Given the description of an element on the screen output the (x, y) to click on. 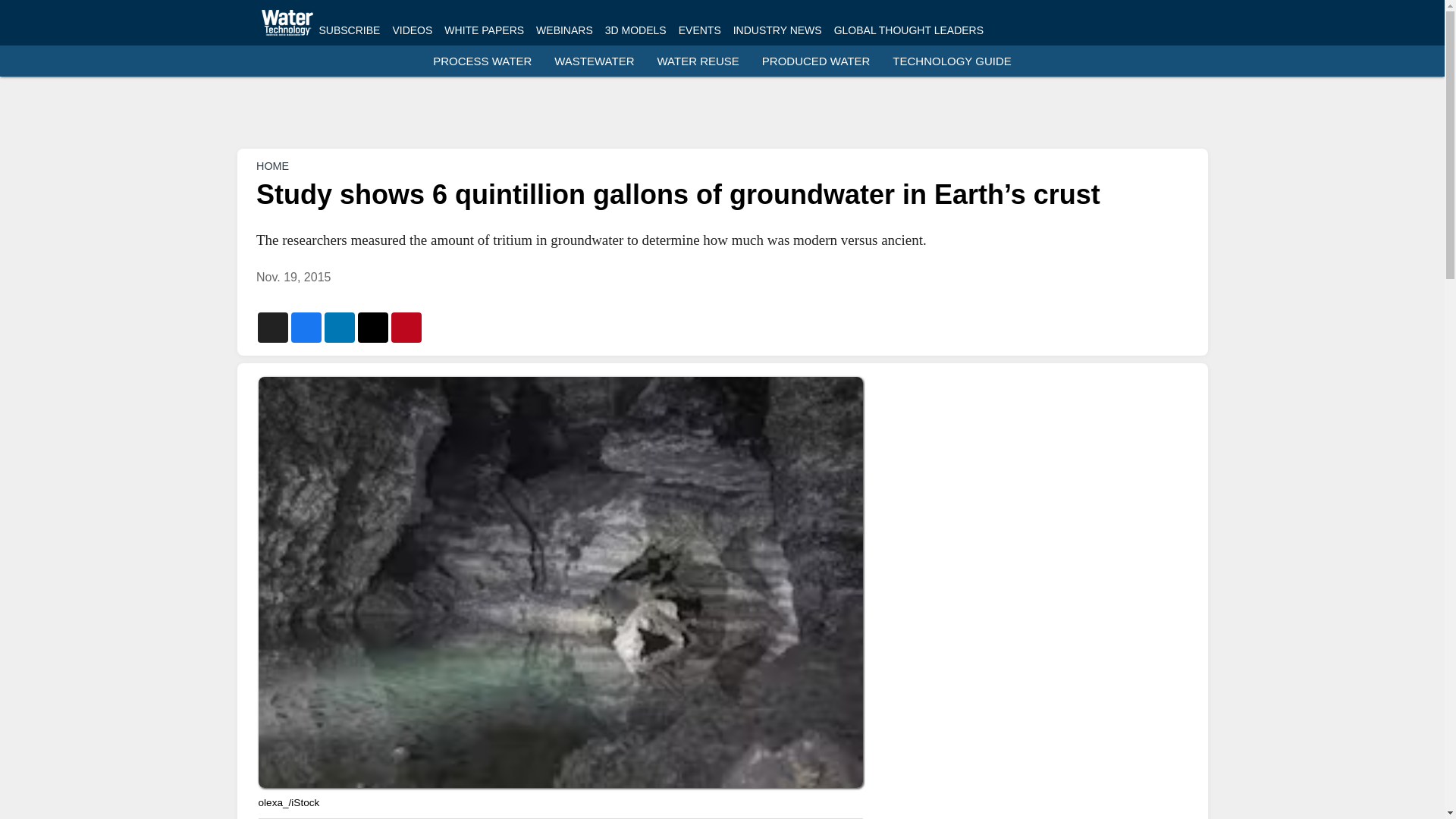
PROCESS WATER (481, 60)
PRODUCED WATER (815, 60)
WATER REUSE (698, 60)
WHITE PAPERS (484, 30)
SUBSCRIBE (349, 30)
HOME (272, 165)
EVENTS (699, 30)
VIDEOS (411, 30)
WASTEWATER (593, 60)
INDUSTRY NEWS (777, 30)
